Given the description of an element on the screen output the (x, y) to click on. 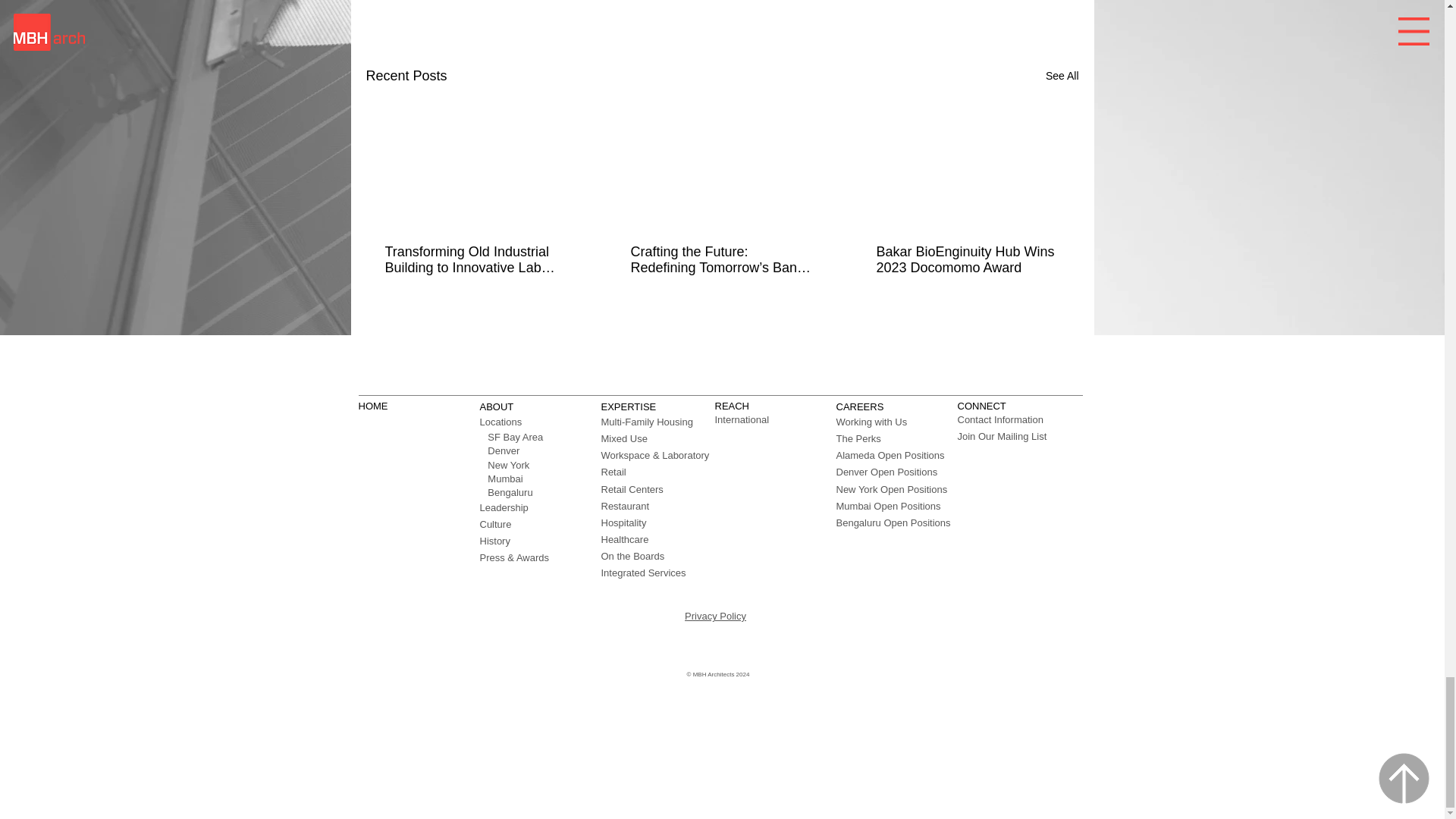
Hospitality (622, 522)
Transforming Old Industrial Building to Innovative Lab Space (476, 260)
Retail Centers (630, 488)
On the Boards (631, 555)
Retail (612, 471)
International (741, 419)
Healthcare (623, 539)
Multi-Family Housing (646, 421)
Restaurant (624, 505)
Mixed Use (622, 438)
Integrated Services (642, 572)
EXPERTISE (627, 406)
Privacy Policy (714, 615)
See All (1061, 75)
Bakar BioEnginuity Hub Wins 2023 Docomomo Award (967, 260)
